Given the description of an element on the screen output the (x, y) to click on. 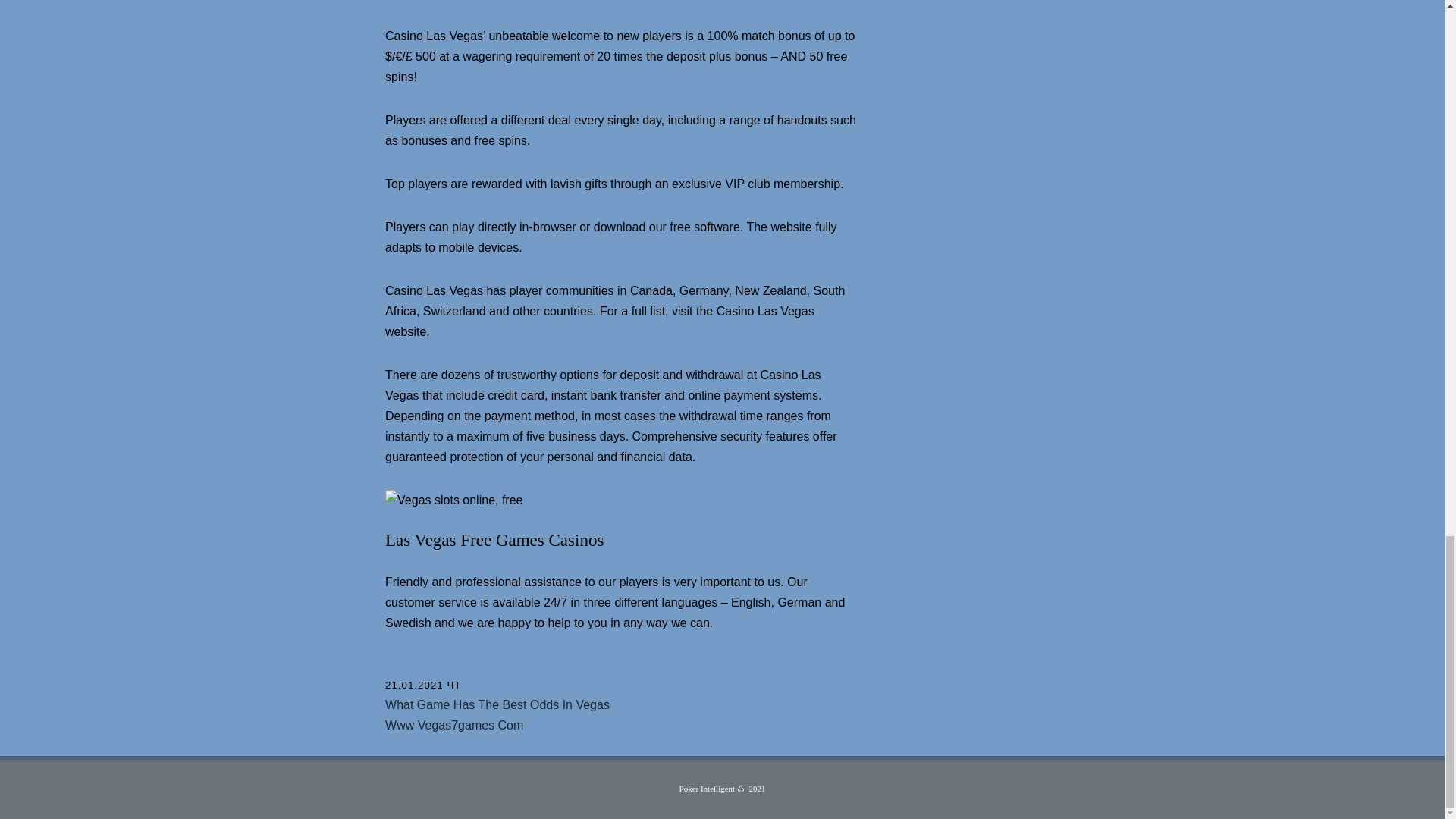
Poker Intelligent (707, 788)
Www Vegas7games Com (453, 725)
Poker Intelligent (707, 788)
What Game Has The Best Odds In Vegas (497, 704)
Vegas slots online, free (453, 499)
